Given the description of an element on the screen output the (x, y) to click on. 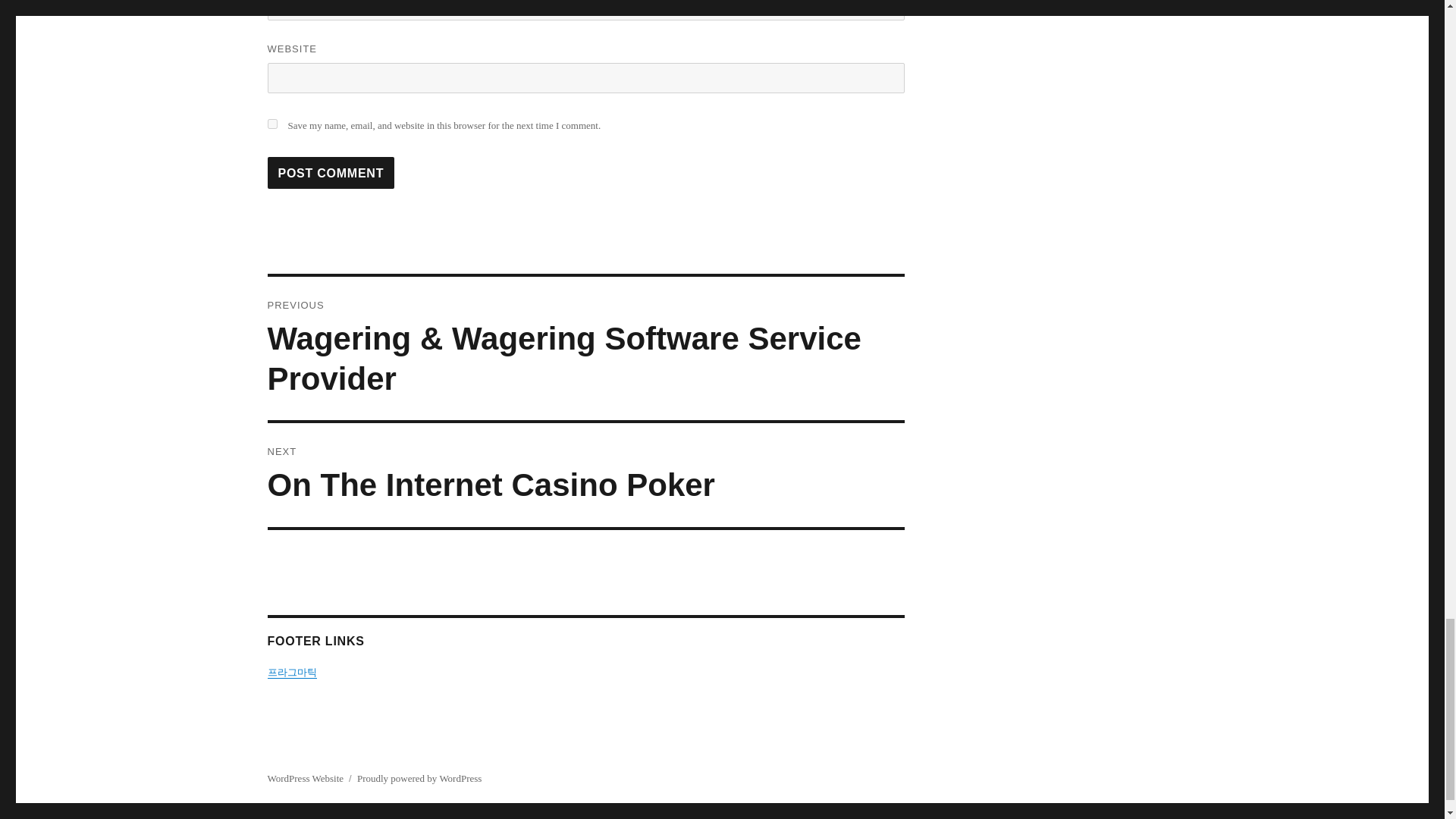
yes (271, 123)
Post Comment (330, 173)
WordPress Website (304, 778)
Post Comment (585, 474)
